Given the description of an element on the screen output the (x, y) to click on. 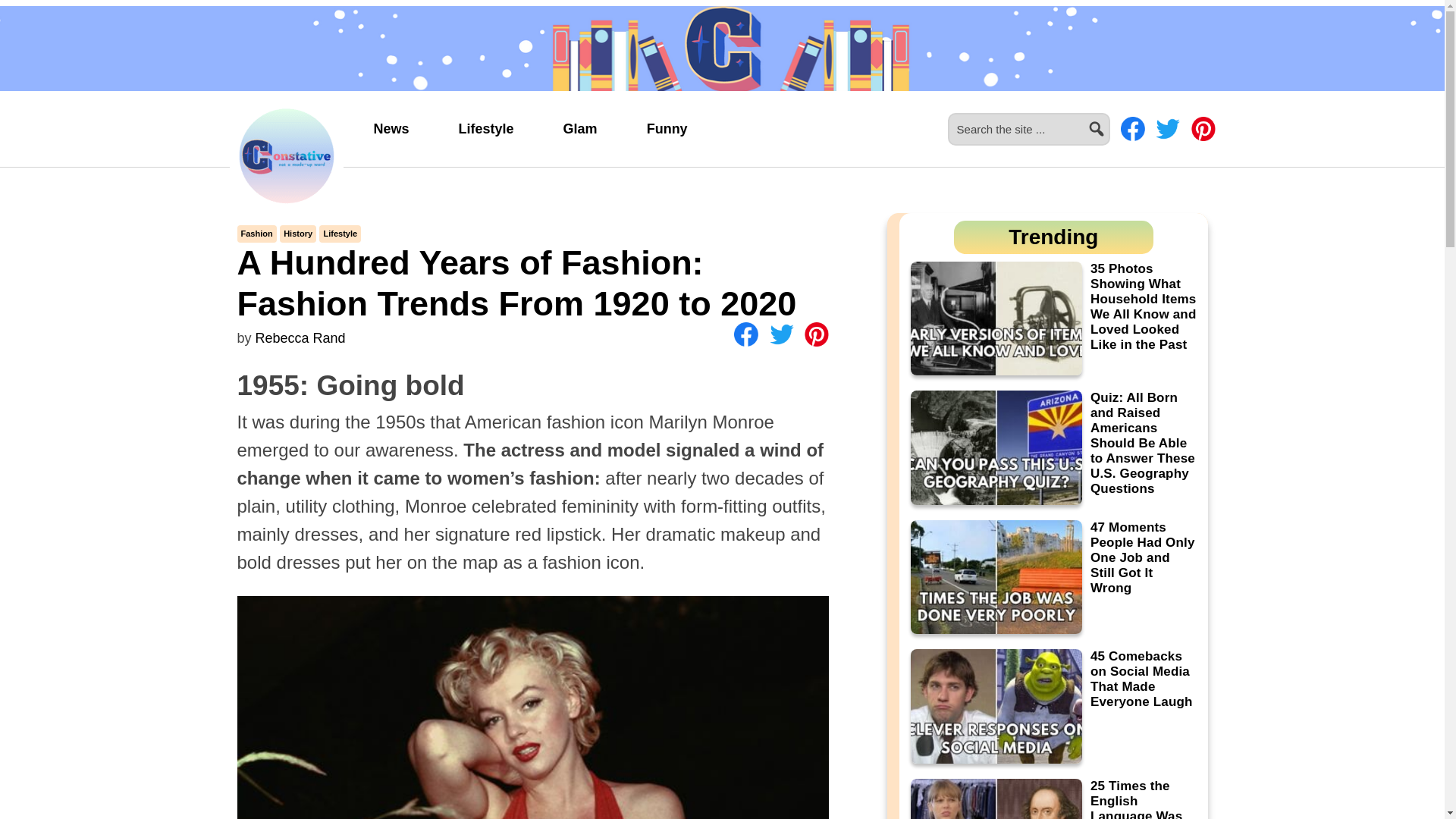
45 Comebacks on Social Media That Made Everyone Laugh (1141, 679)
Lifestyle (486, 128)
Funny (667, 128)
Glam (580, 128)
News (390, 128)
History (298, 233)
Search (1116, 119)
45 Comebacks on Social Media That Made Everyone Laugh (1053, 706)
